Given the description of an element on the screen output the (x, y) to click on. 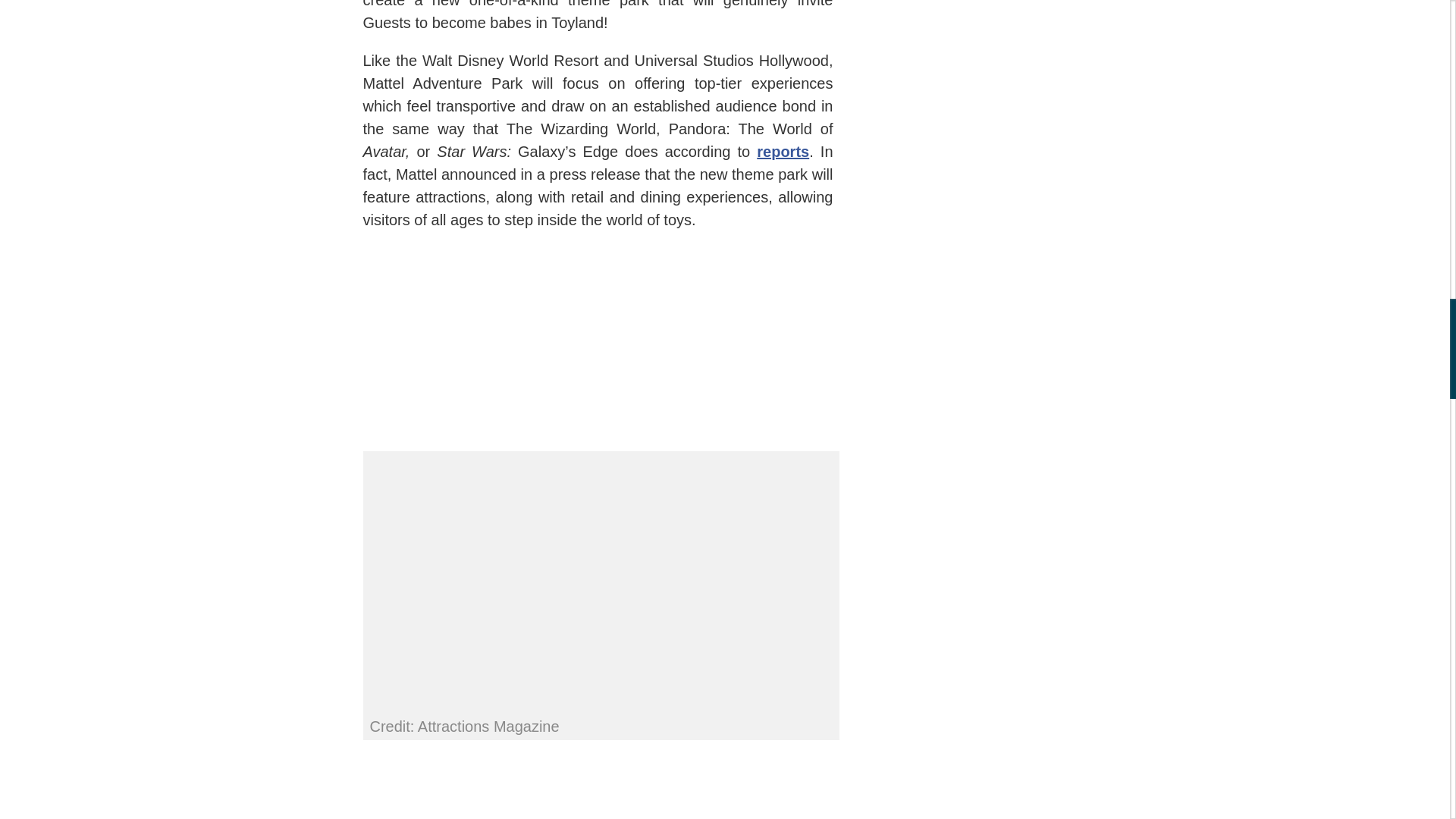
reports (783, 151)
